Given the description of an element on the screen output the (x, y) to click on. 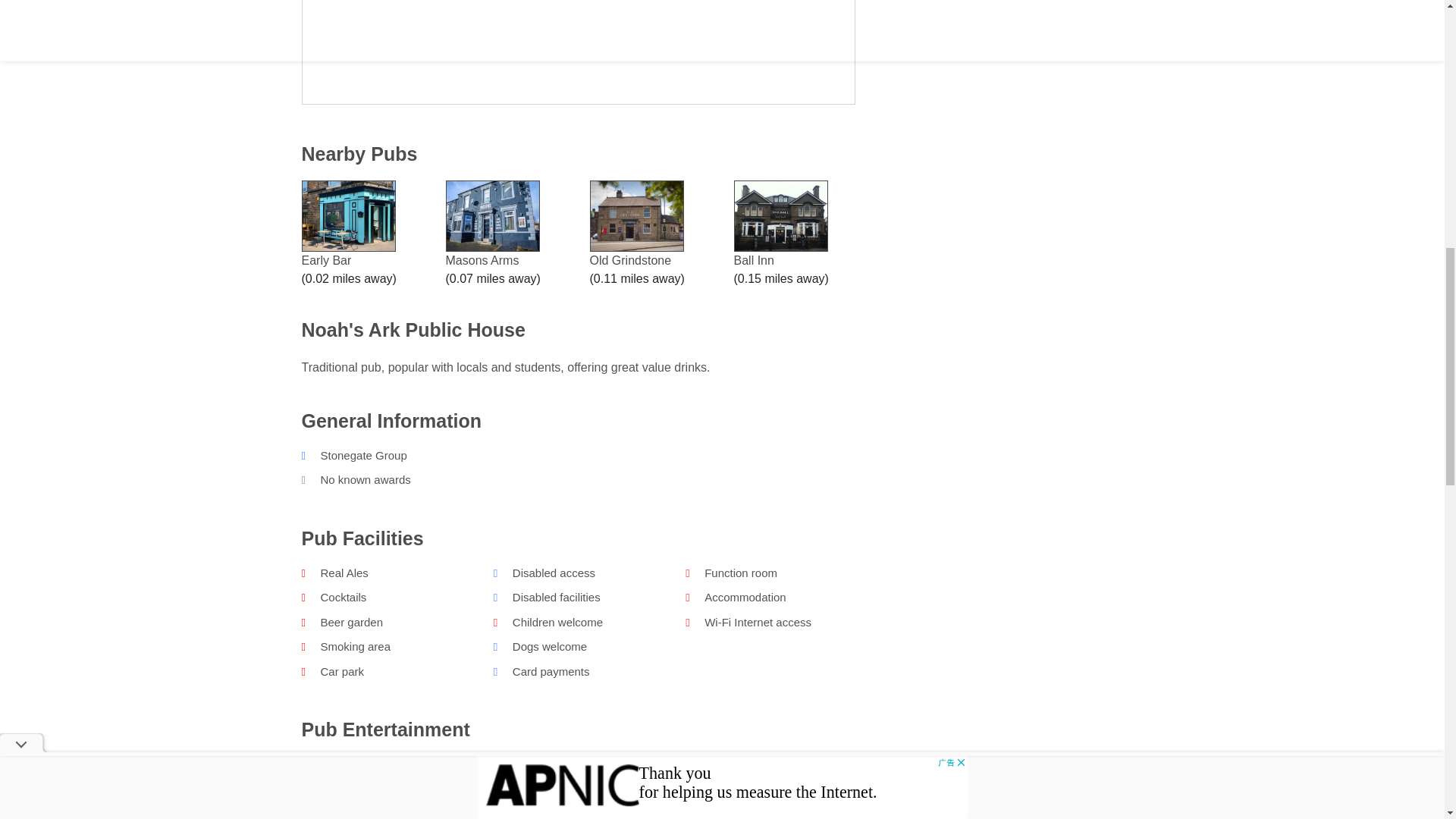
Ball Inn (780, 237)
Old Grindstone (636, 237)
Masons Arms (492, 237)
Early Bar (348, 237)
